Given the description of an element on the screen output the (x, y) to click on. 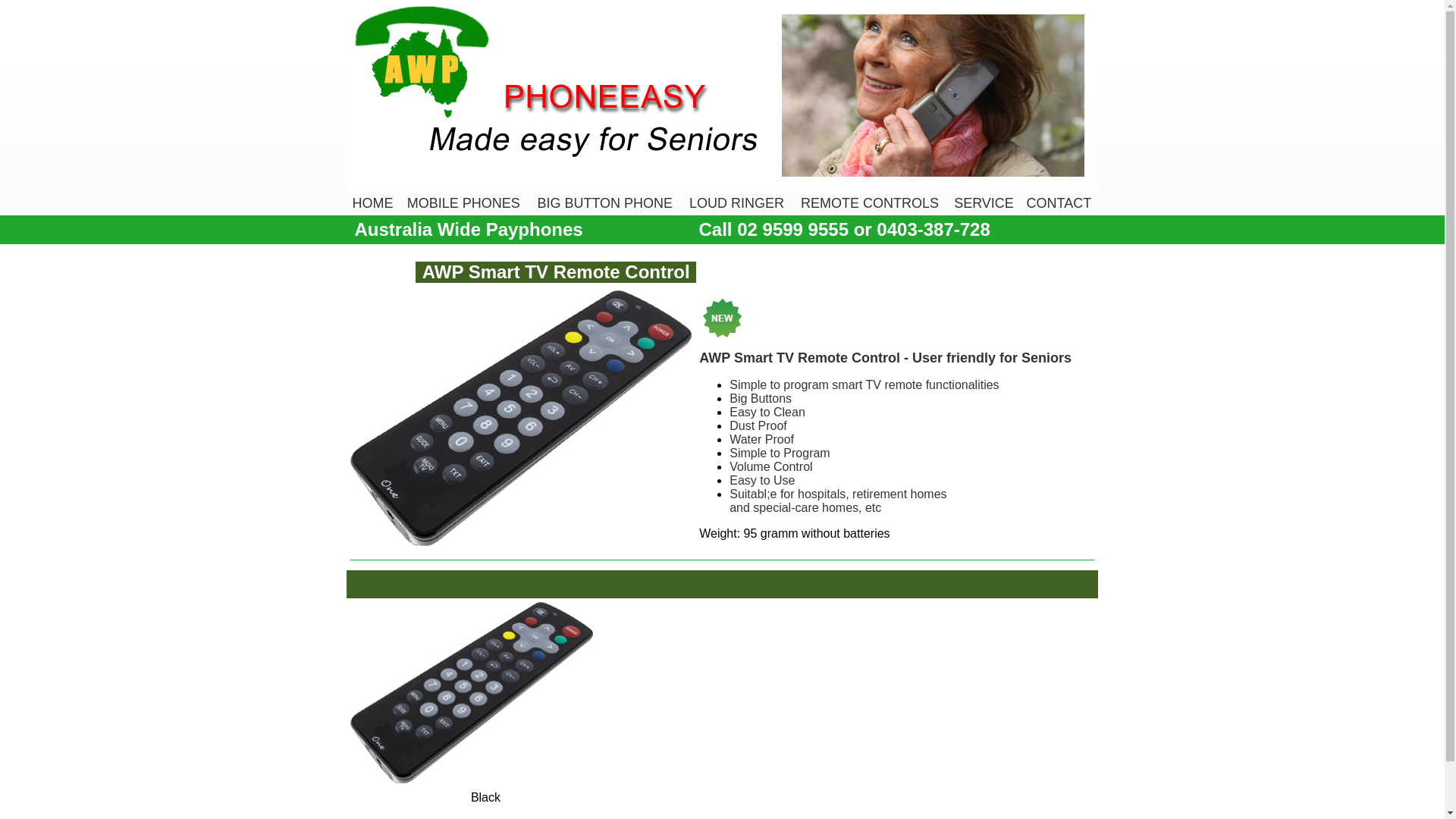
REMOTE CONTROLS Element type: text (869, 202)
Australia Wide Payphones Element type: text (468, 230)
BIG BUTTON PHONE Element type: text (604, 202)
HOME Element type: text (372, 202)
Call 02 9599 9555 or 0403-387-728 Element type: text (844, 230)
LOUD RINGER Element type: text (736, 202)
MOBILE PHONES Element type: text (463, 202)
CONTACT Element type: text (1059, 202)
SERVICE Element type: text (983, 202)
